Given the description of an element on the screen output the (x, y) to click on. 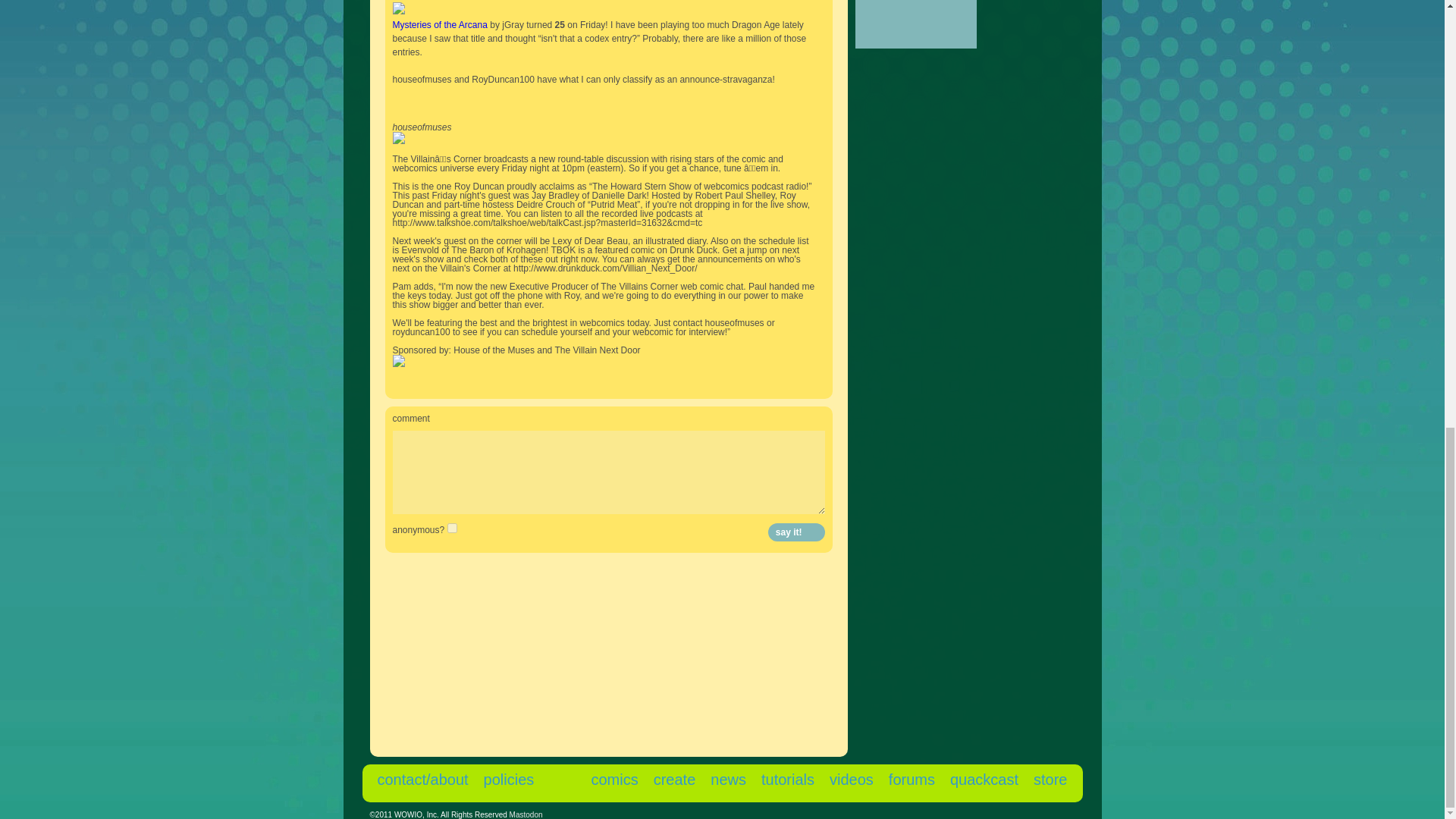
policies (508, 779)
1 (451, 528)
Mysteries of the Arcana (440, 24)
comics (614, 779)
say it! (796, 532)
say it! (796, 532)
